Given the description of an element on the screen output the (x, y) to click on. 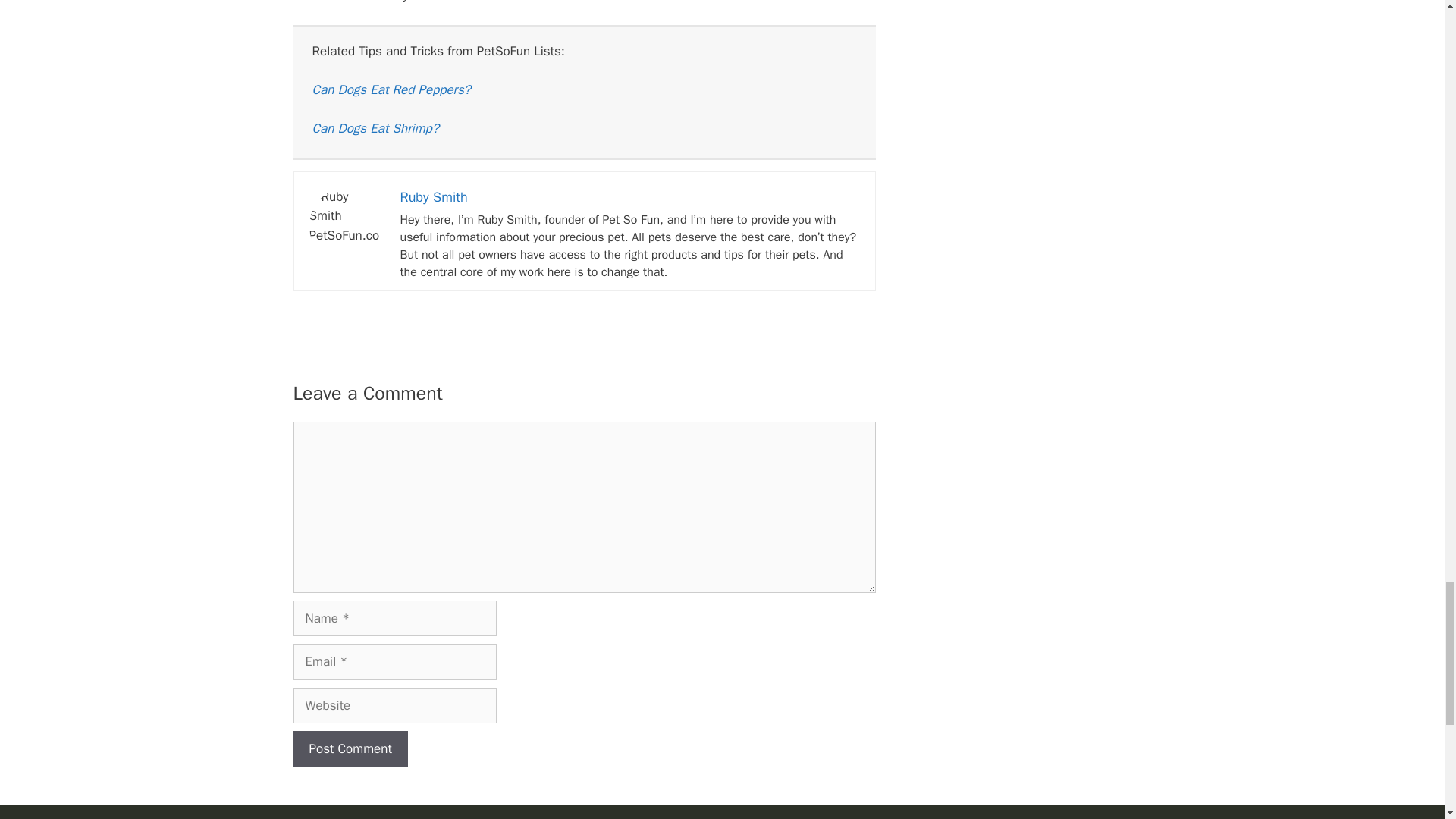
Ruby Smith (433, 197)
Post Comment (349, 749)
Can Dogs Eat Shrimp? (376, 128)
Post Comment (349, 749)
